Given the description of an element on the screen output the (x, y) to click on. 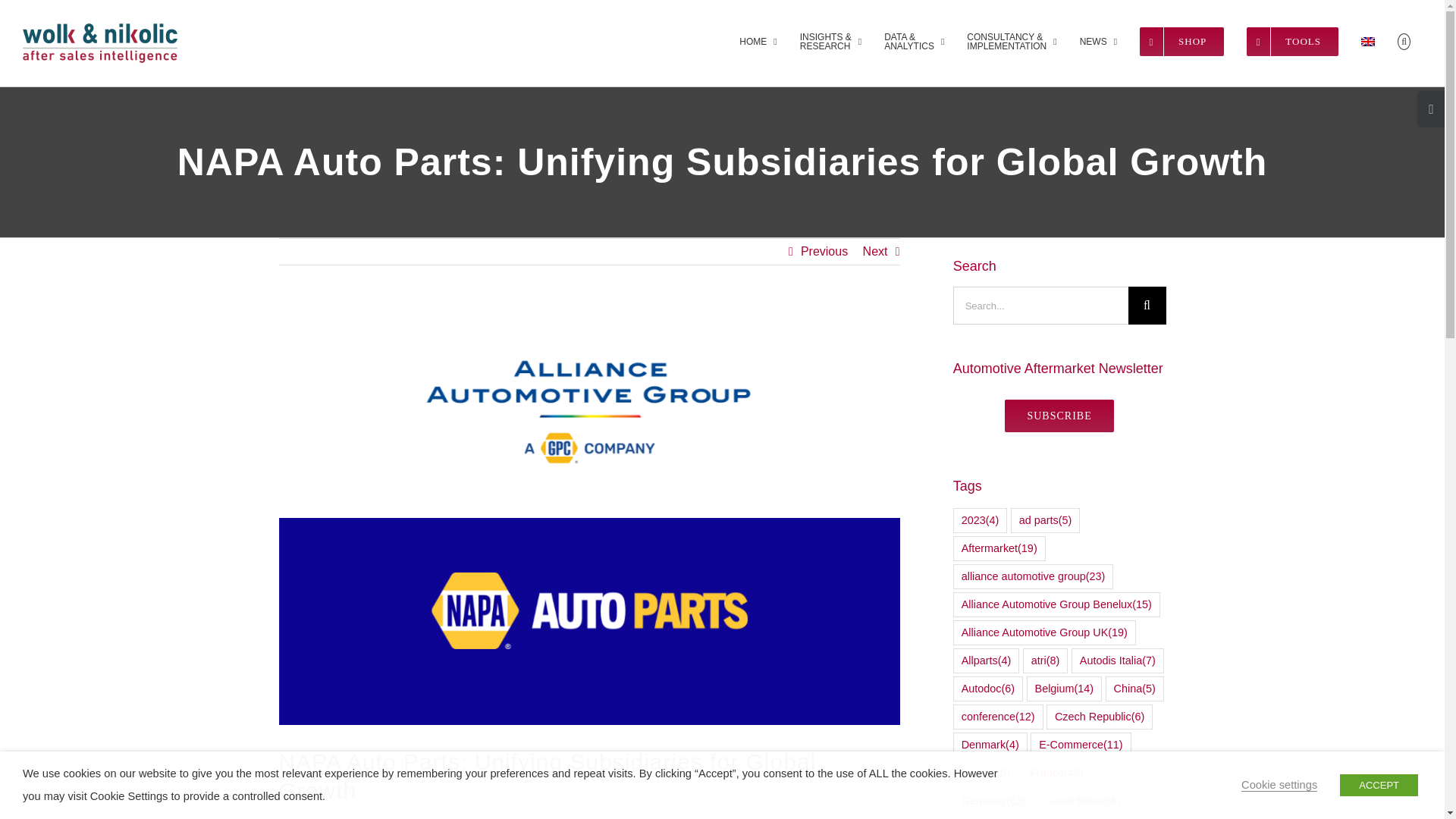
AFTERMARKET INSIGHTS (830, 41)
SHOP (1181, 41)
subscribe (1058, 415)
